Given the description of an element on the screen output the (x, y) to click on. 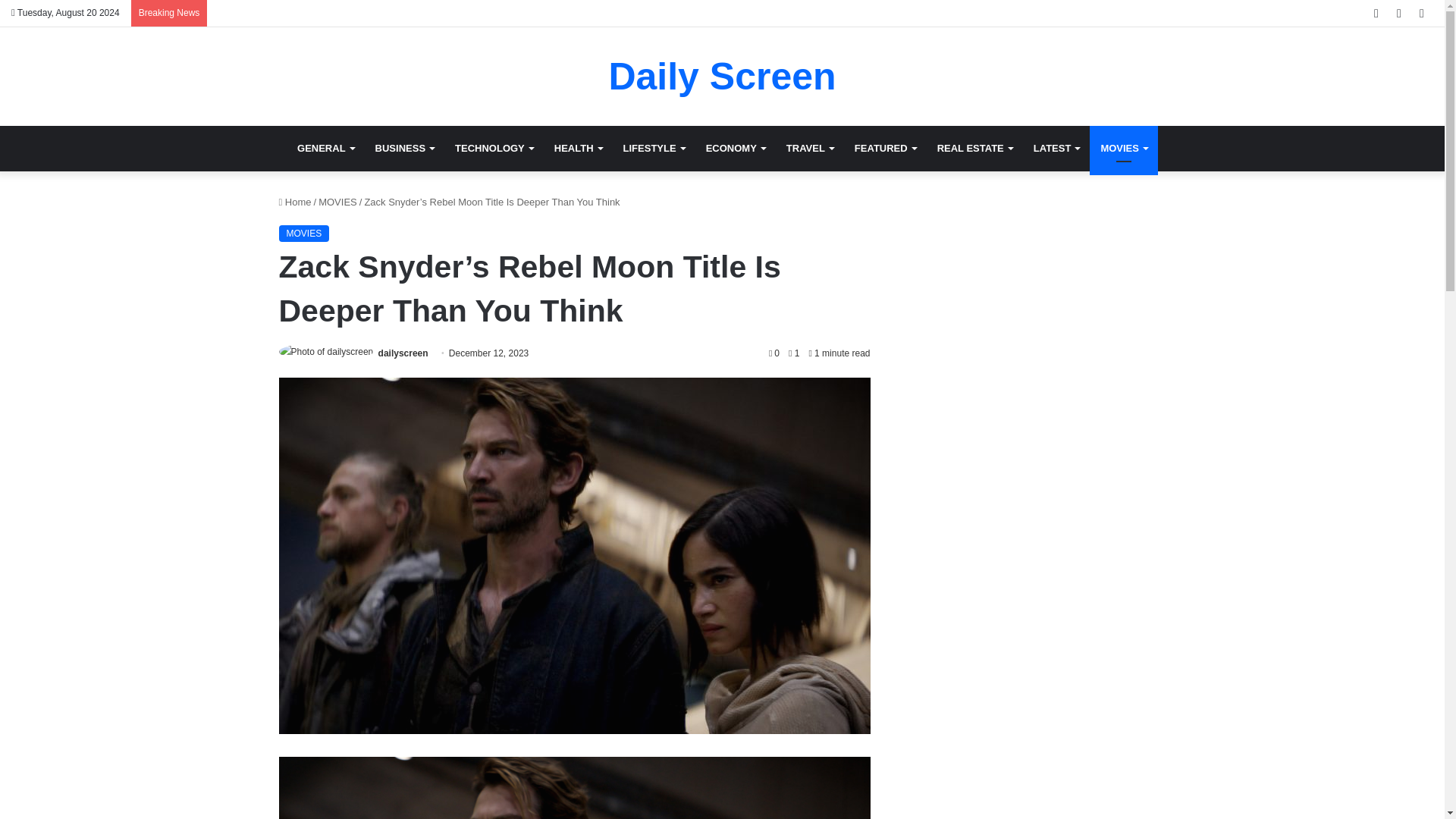
MOVIES (337, 202)
Home (295, 202)
Daily Screen (721, 76)
Daily Screen (721, 76)
MOVIES (304, 233)
ECONOMY (735, 148)
GENERAL (325, 148)
dailyscreen (403, 353)
dailyscreen (403, 353)
MOVIES (1123, 148)
